Given the description of an element on the screen output the (x, y) to click on. 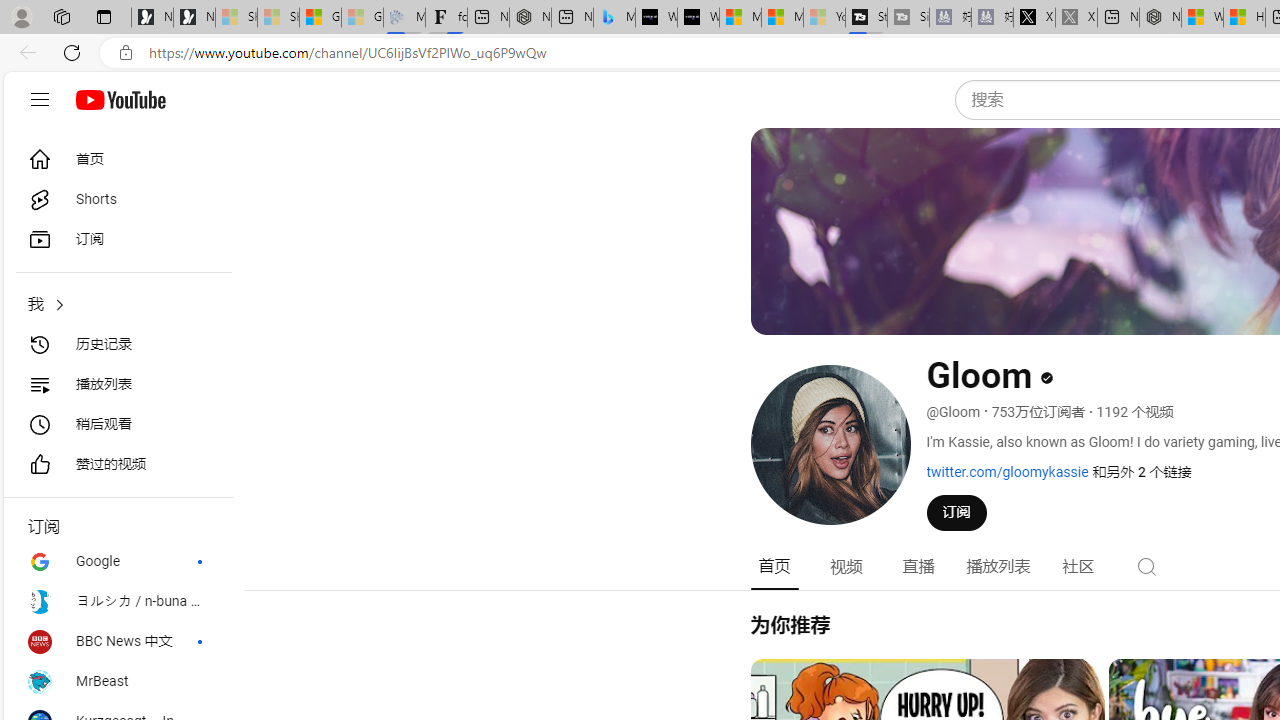
Newsletter Sign Up (194, 17)
